Given the description of an element on the screen output the (x, y) to click on. 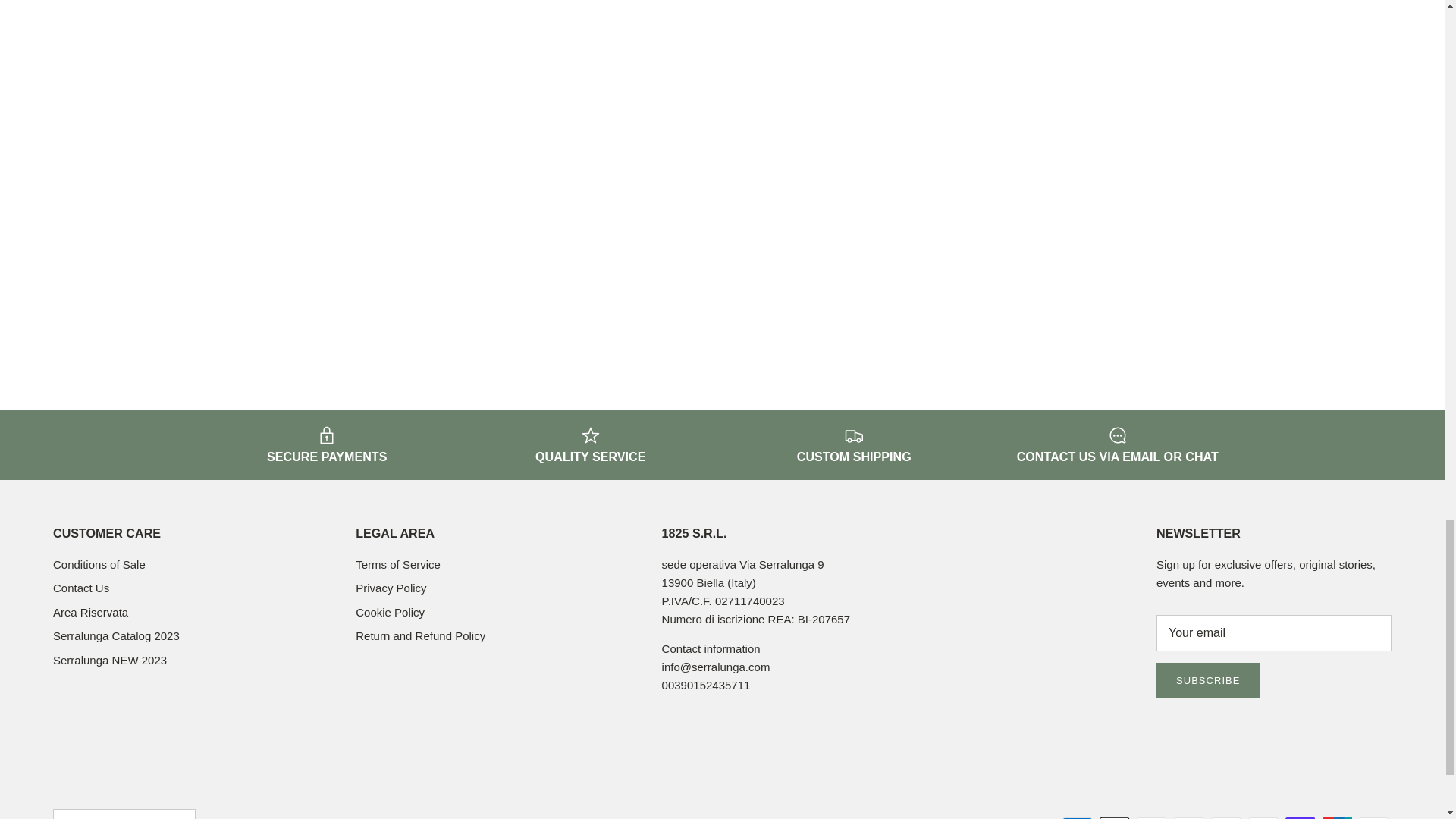
Union Pay (1337, 818)
Shop Pay (1299, 818)
Maestro (1188, 818)
Mastercard (1225, 818)
Visa (1373, 818)
American Express (1077, 818)
Apple Pay (1114, 818)
PayPal (1262, 818)
Google Pay (1151, 818)
